Given the description of an element on the screen output the (x, y) to click on. 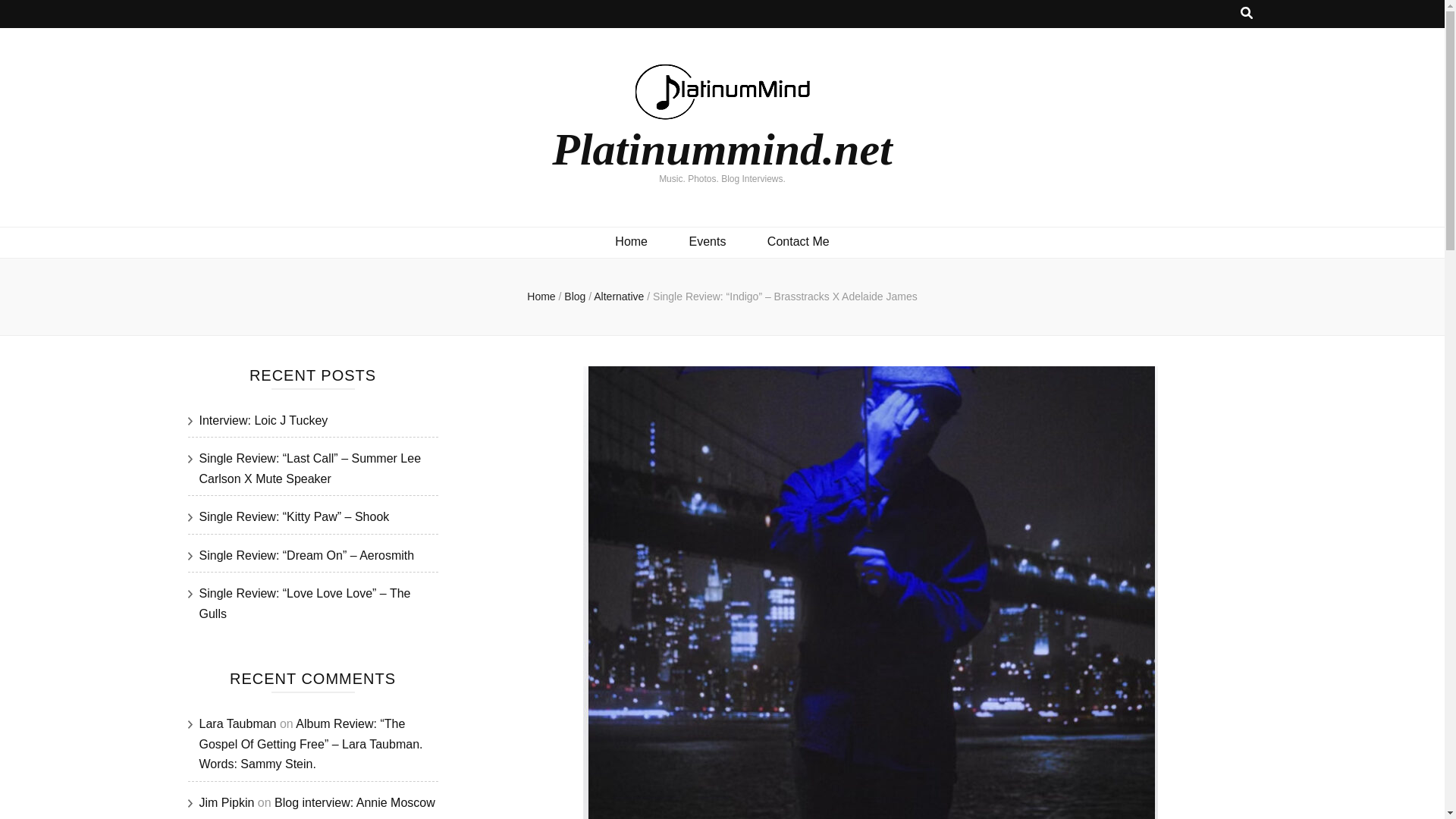
Platinummind.net (721, 149)
Alternative (620, 296)
Home (630, 241)
Contact Me (798, 241)
Home (540, 296)
Blog (576, 296)
Events (706, 241)
